Given the description of an element on the screen output the (x, y) to click on. 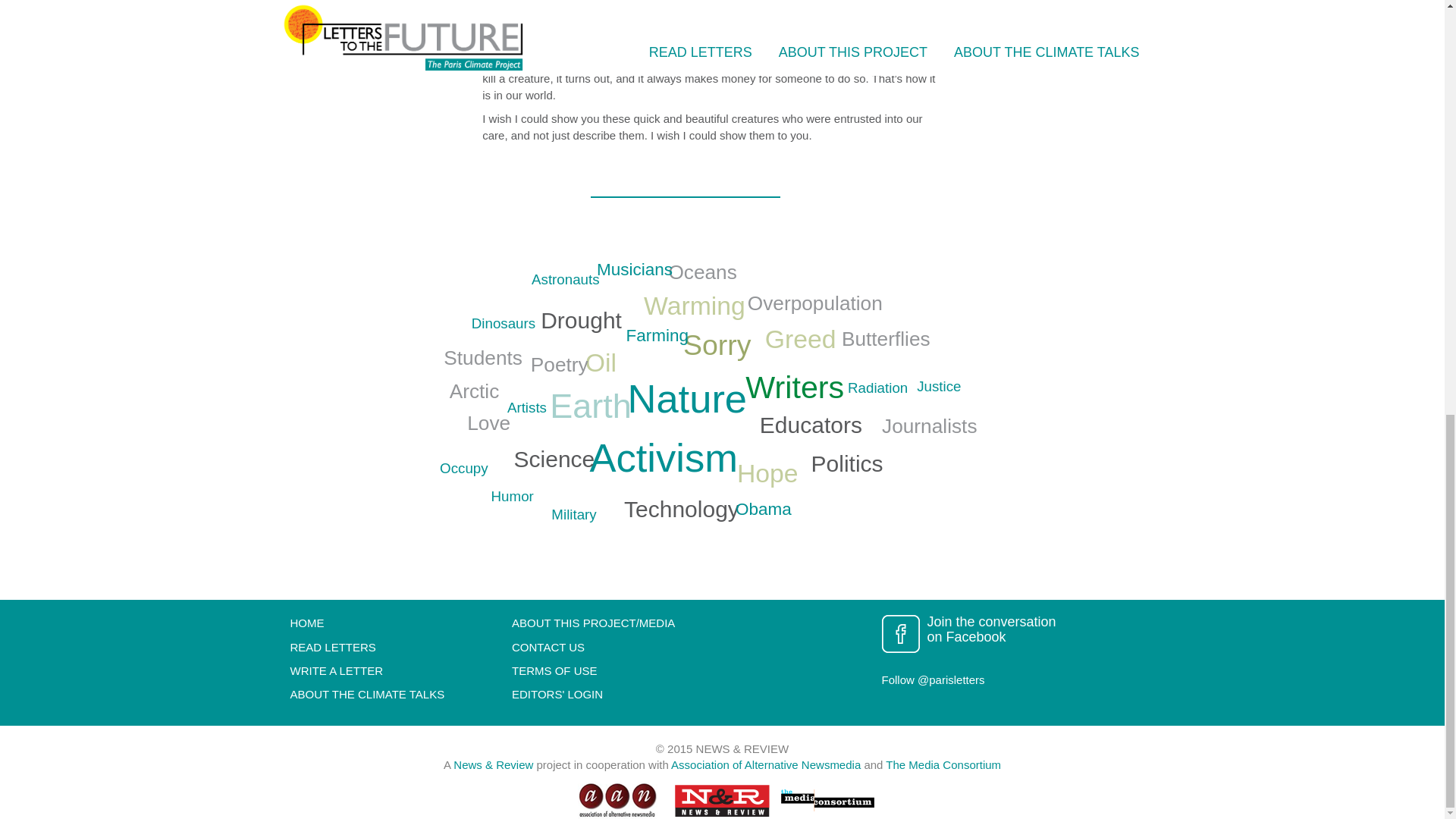
Drought (580, 319)
Obama (763, 508)
Poetry (559, 363)
Butterflies (885, 338)
Activism (662, 456)
Arctic (474, 391)
Earth (590, 405)
Nature (686, 397)
Greed (800, 338)
Hope (766, 472)
